Given the description of an element on the screen output the (x, y) to click on. 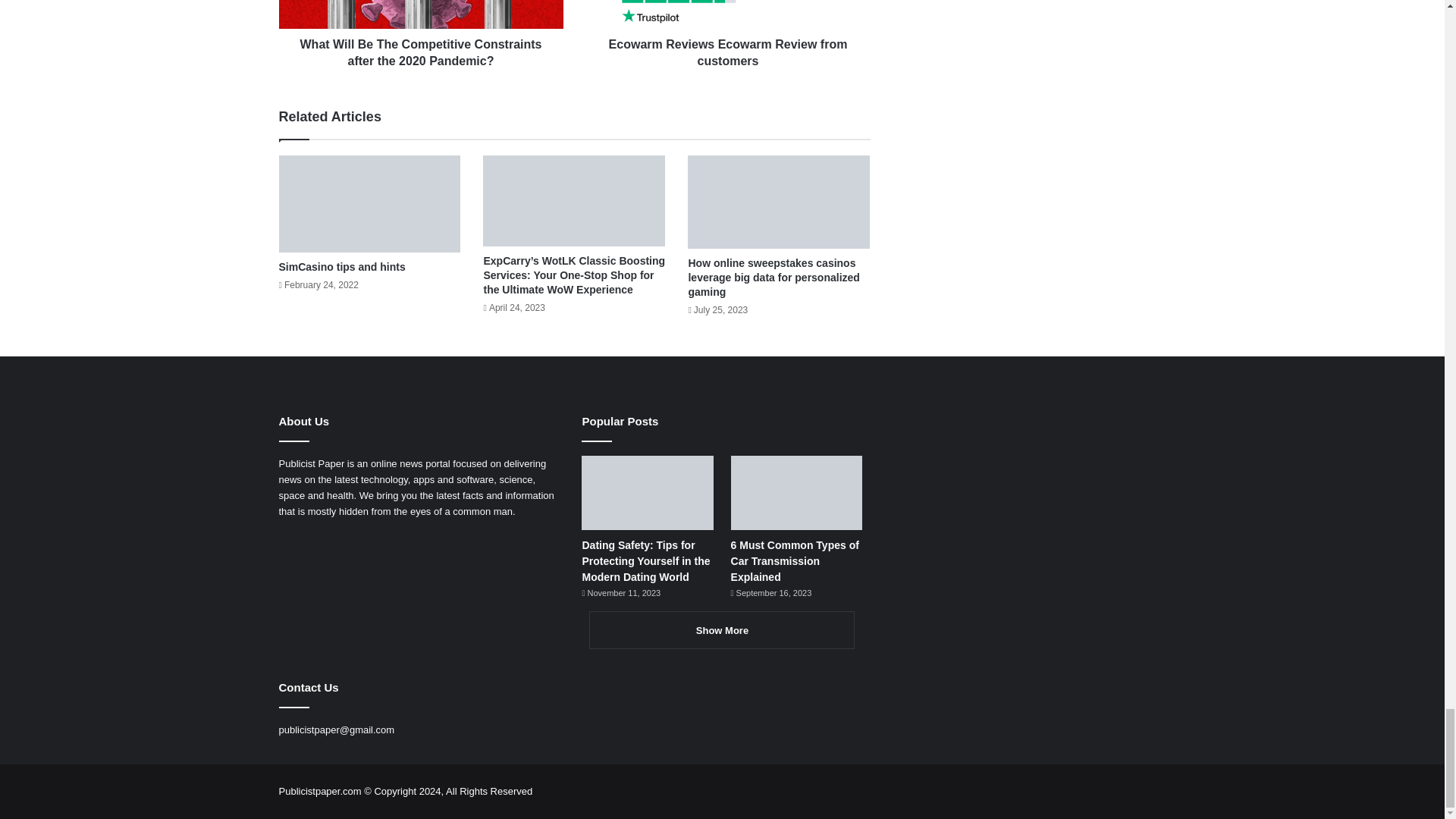
Ecowarm Reviews Ecowarm Review from customers (727, 48)
SimCasino tips and hints (342, 266)
